Given the description of an element on the screen output the (x, y) to click on. 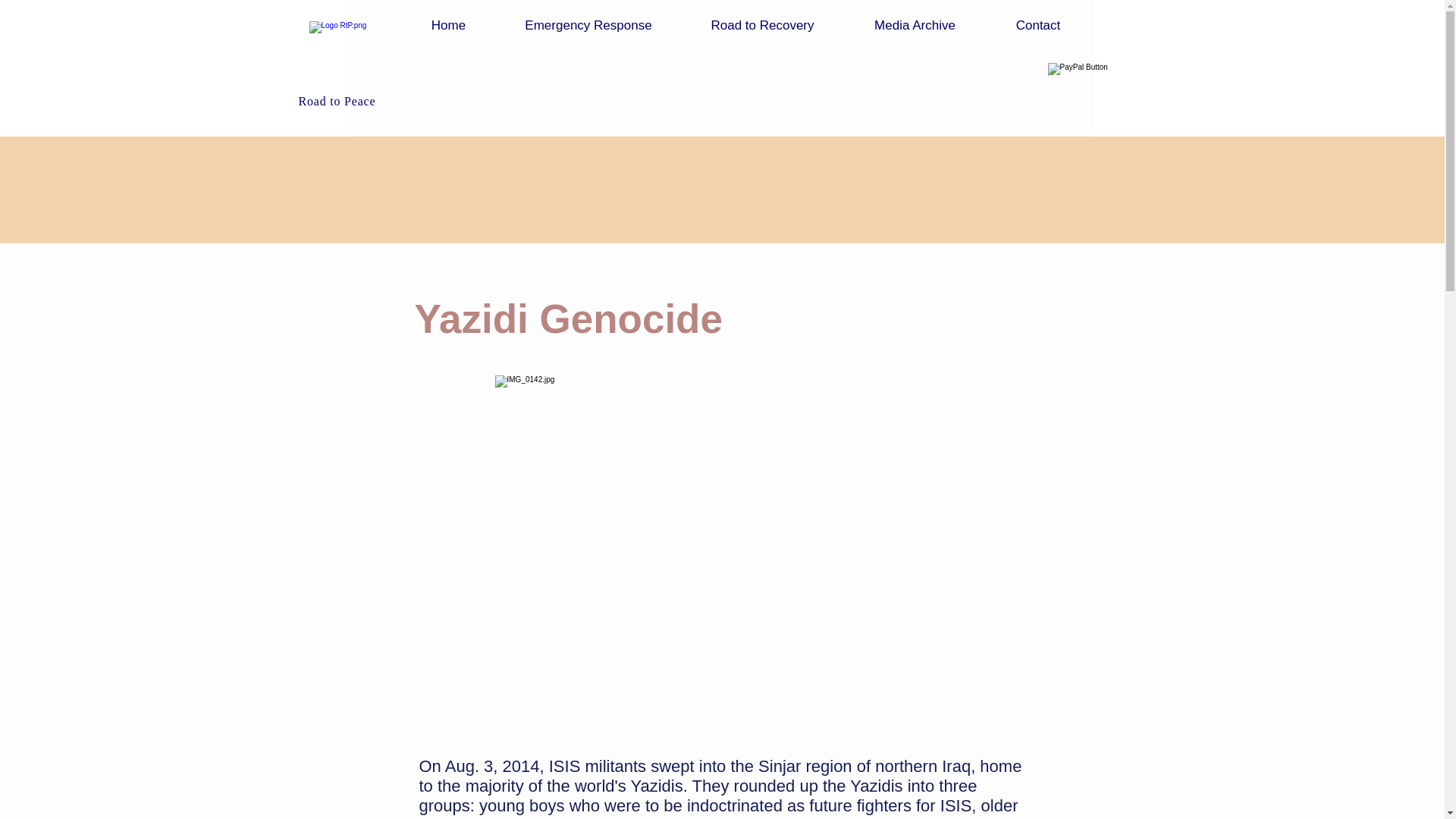
Media Archive (914, 25)
Road to Recovery (762, 25)
Emergency Response (588, 25)
Contact (1037, 25)
Home (448, 25)
Road to Peace  (339, 101)
